Given the description of an element on the screen output the (x, y) to click on. 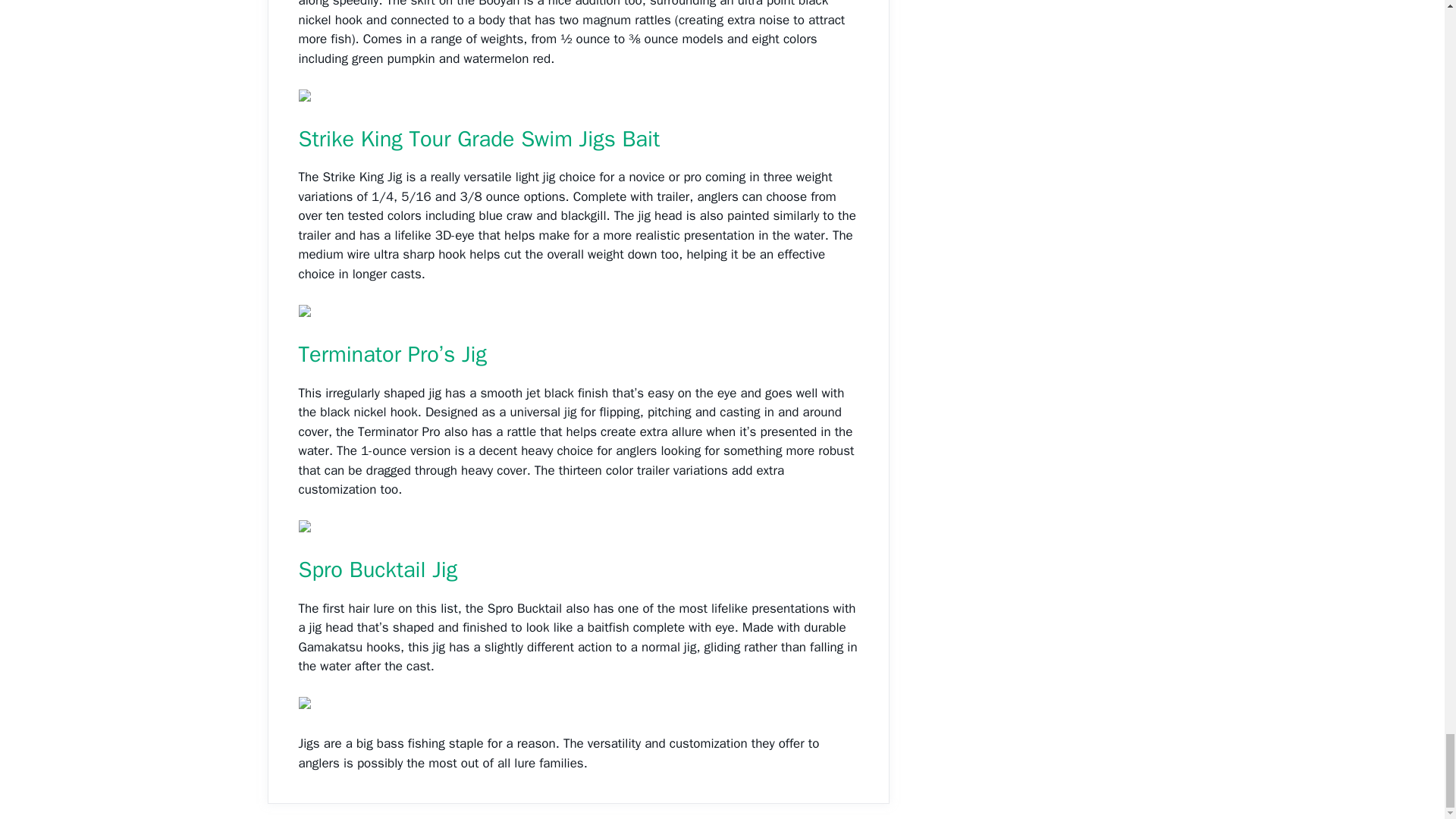
Strike King Tour Grade Swim Jigs Bait (479, 139)
Spro Bucktail Jig (378, 569)
